Given the description of an element on the screen output the (x, y) to click on. 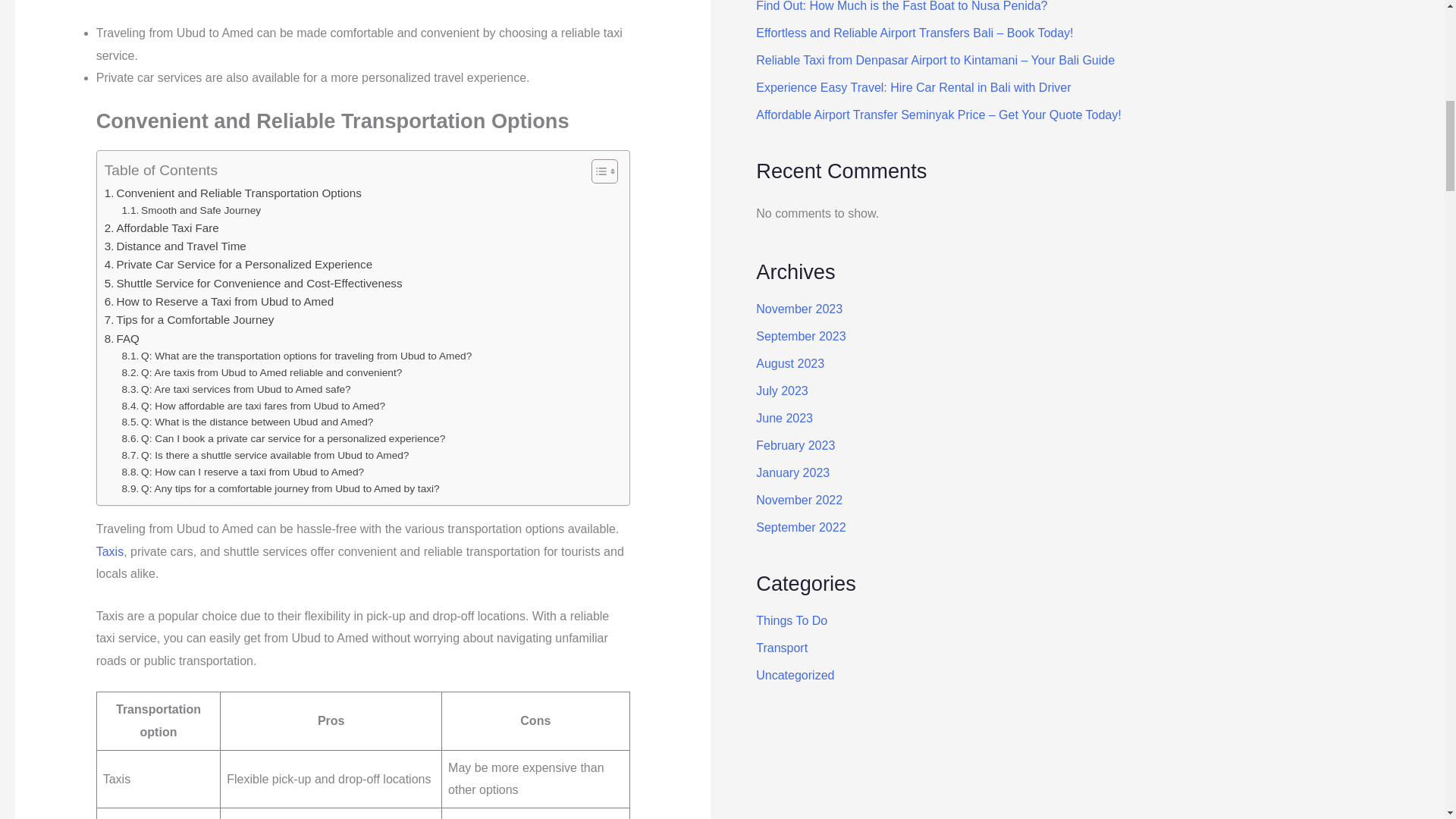
Tips for a Comfortable Journey (189, 320)
Q: How can I reserve a taxi from Ubud to Amed? (243, 472)
Smooth and Safe Journey (192, 210)
Q: Are taxis from Ubud to Amed reliable and convenient? (262, 372)
Q: Is there a shuttle service available from Ubud to Amed? (265, 455)
Distance and Travel Time (175, 246)
Tips for a Comfortable Journey (189, 320)
Private Car Service for a Personalized Experience (238, 264)
